Given the description of an element on the screen output the (x, y) to click on. 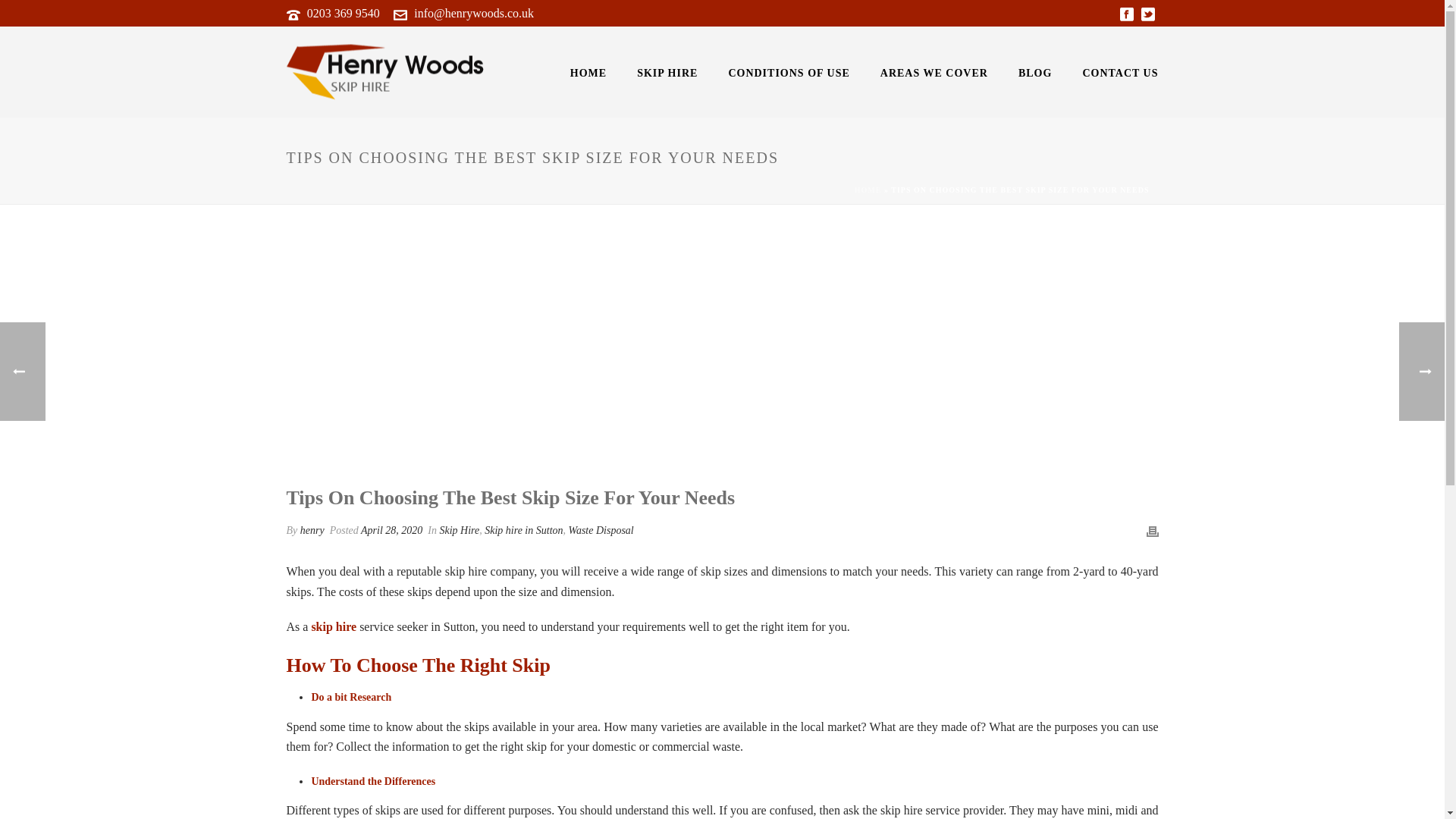
henry (311, 530)
CONDITIONS OF USE (788, 71)
Skip Hire (459, 530)
April 28, 2020 (391, 530)
CONDITIONS OF USE (788, 71)
Skip hire in Sutton (523, 530)
SKIP HIRE (667, 71)
CONTACT US (1120, 71)
CONTACT US (1120, 71)
